Given the description of an element on the screen output the (x, y) to click on. 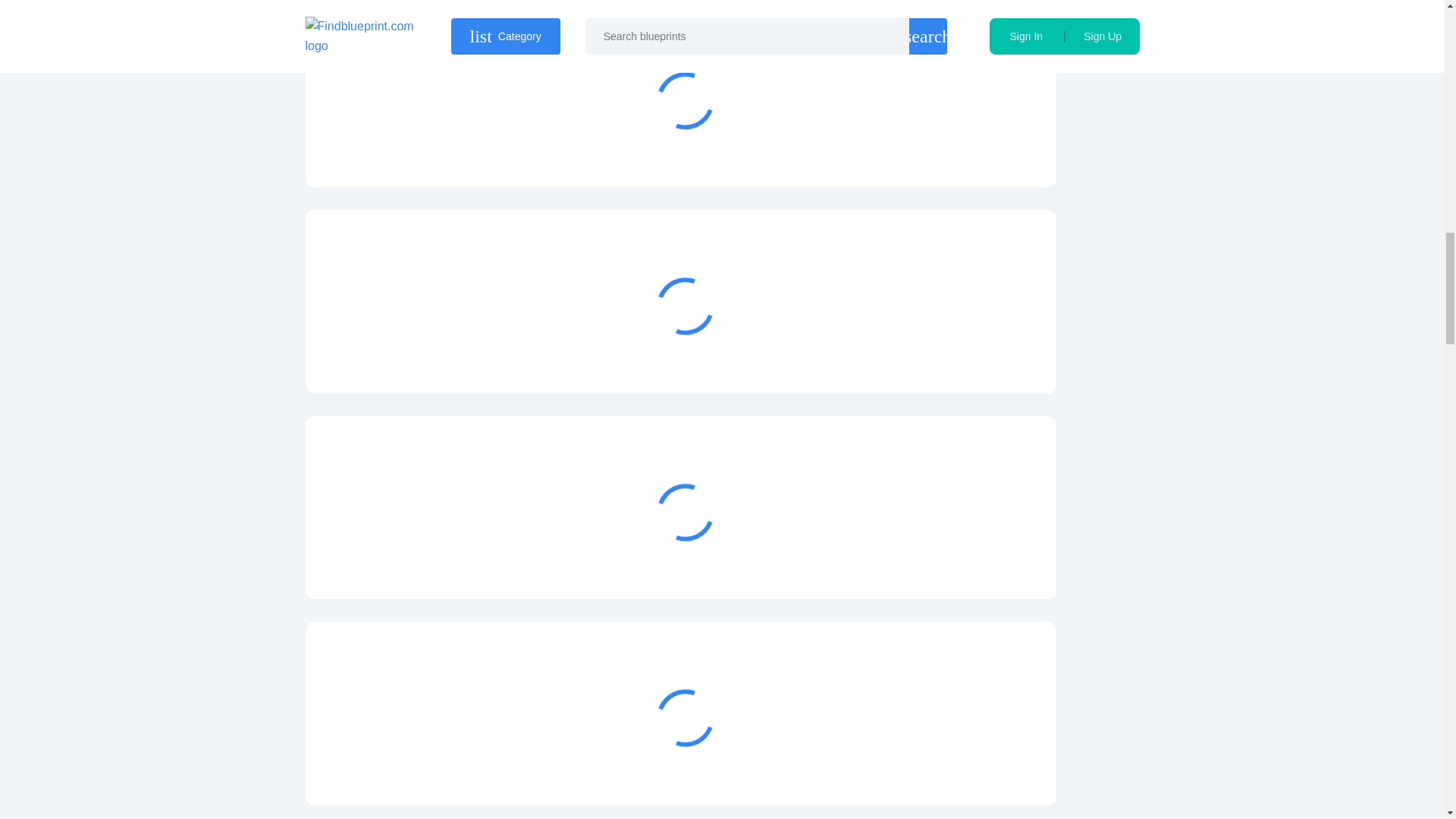
More (962, 150)
More (962, 562)
More (962, 357)
More (962, 769)
